Given the description of an element on the screen output the (x, y) to click on. 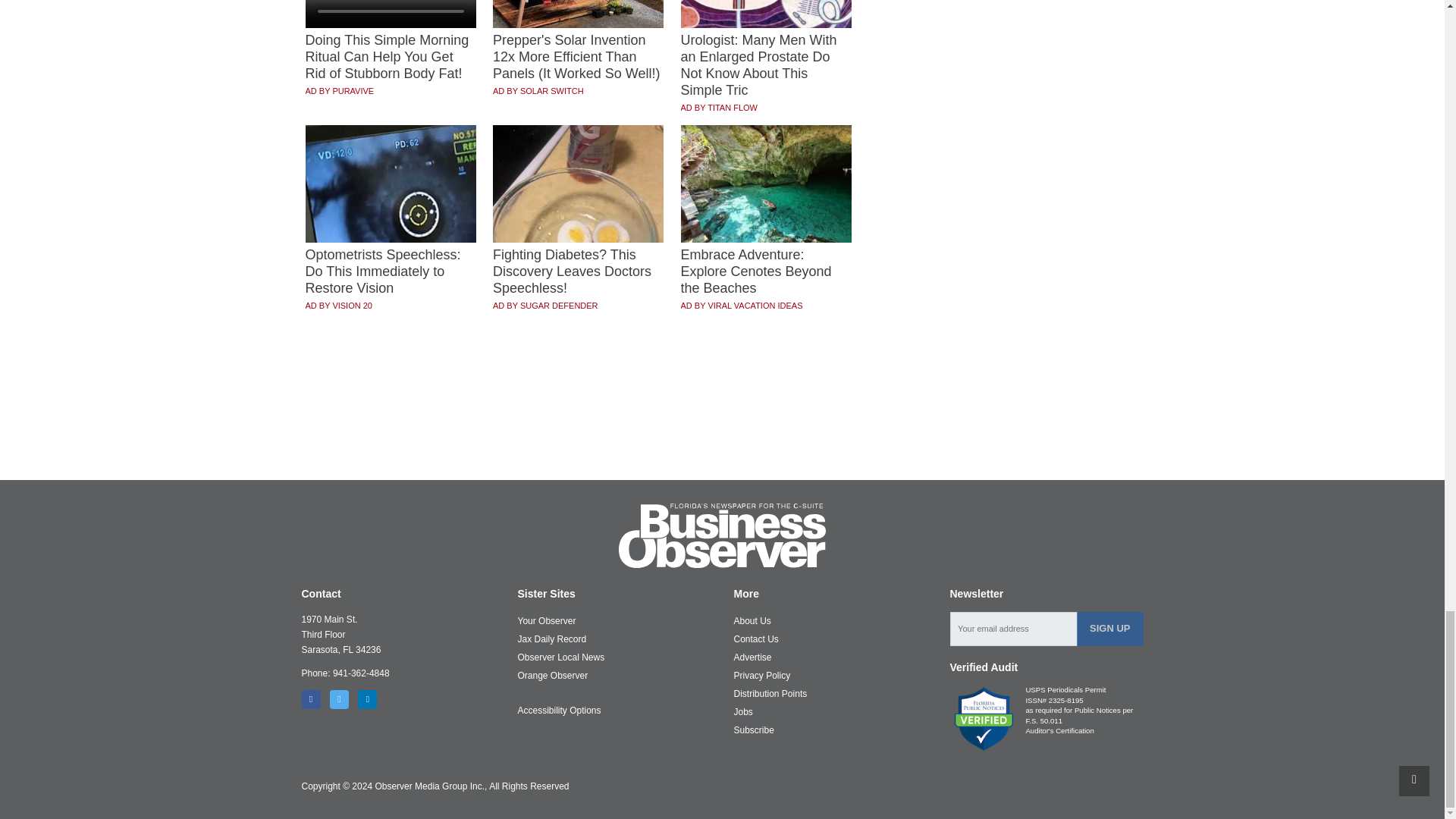
3rd party ad content (722, 424)
